Given the description of an element on the screen output the (x, y) to click on. 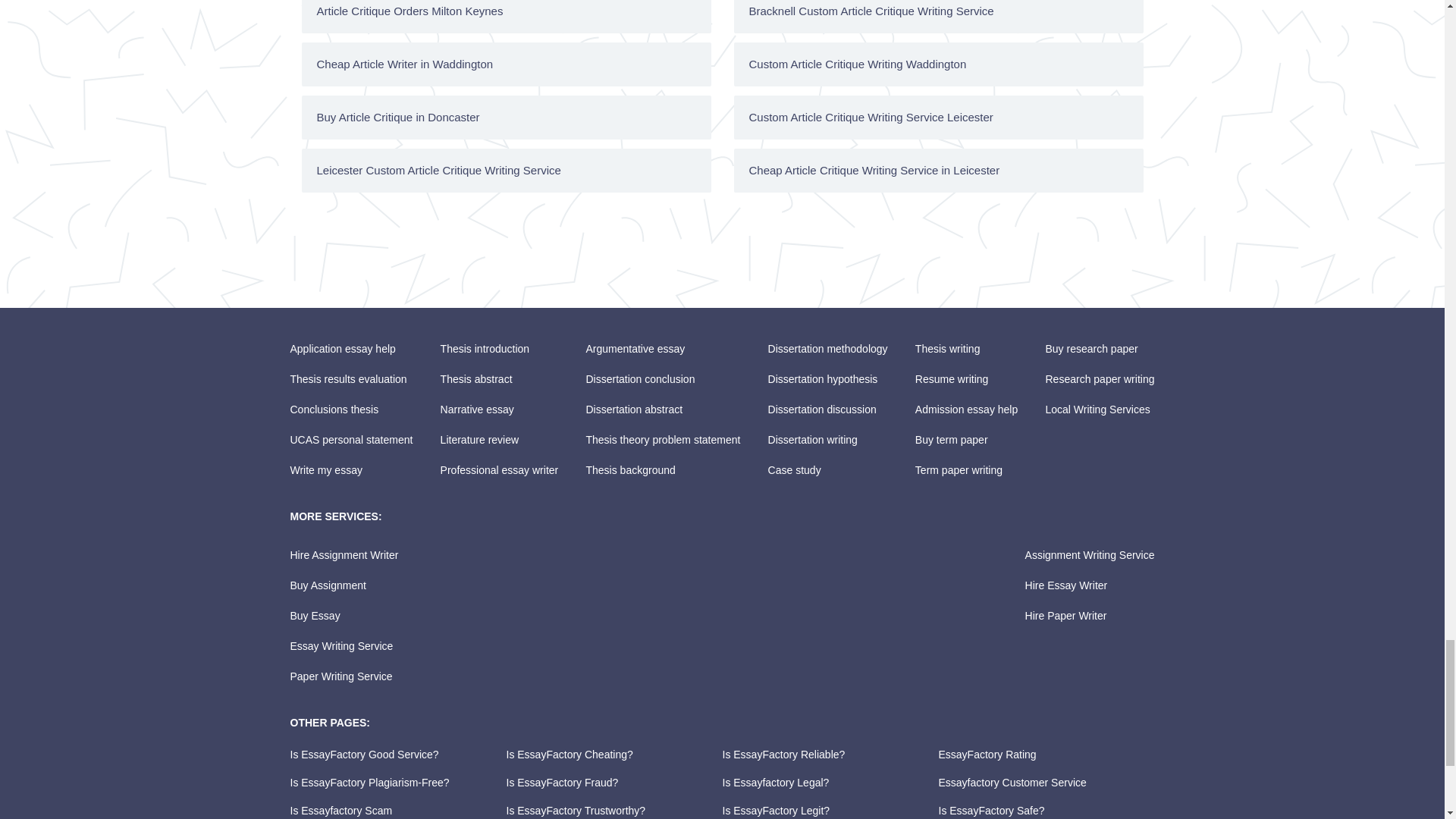
Custom Article Critique Writing Waddington (937, 64)
Bracknell Custom Article Critique Writing Service (937, 16)
Leicester Custom Article Critique Writing Service (506, 170)
Cheap Article Writer in Waddington (506, 64)
Buy Article Critique in Doncaster (506, 117)
Article Critique Orders Milton Keynes (506, 16)
Custom Article Critique Writing Service Leicester (937, 117)
